Given the description of an element on the screen output the (x, y) to click on. 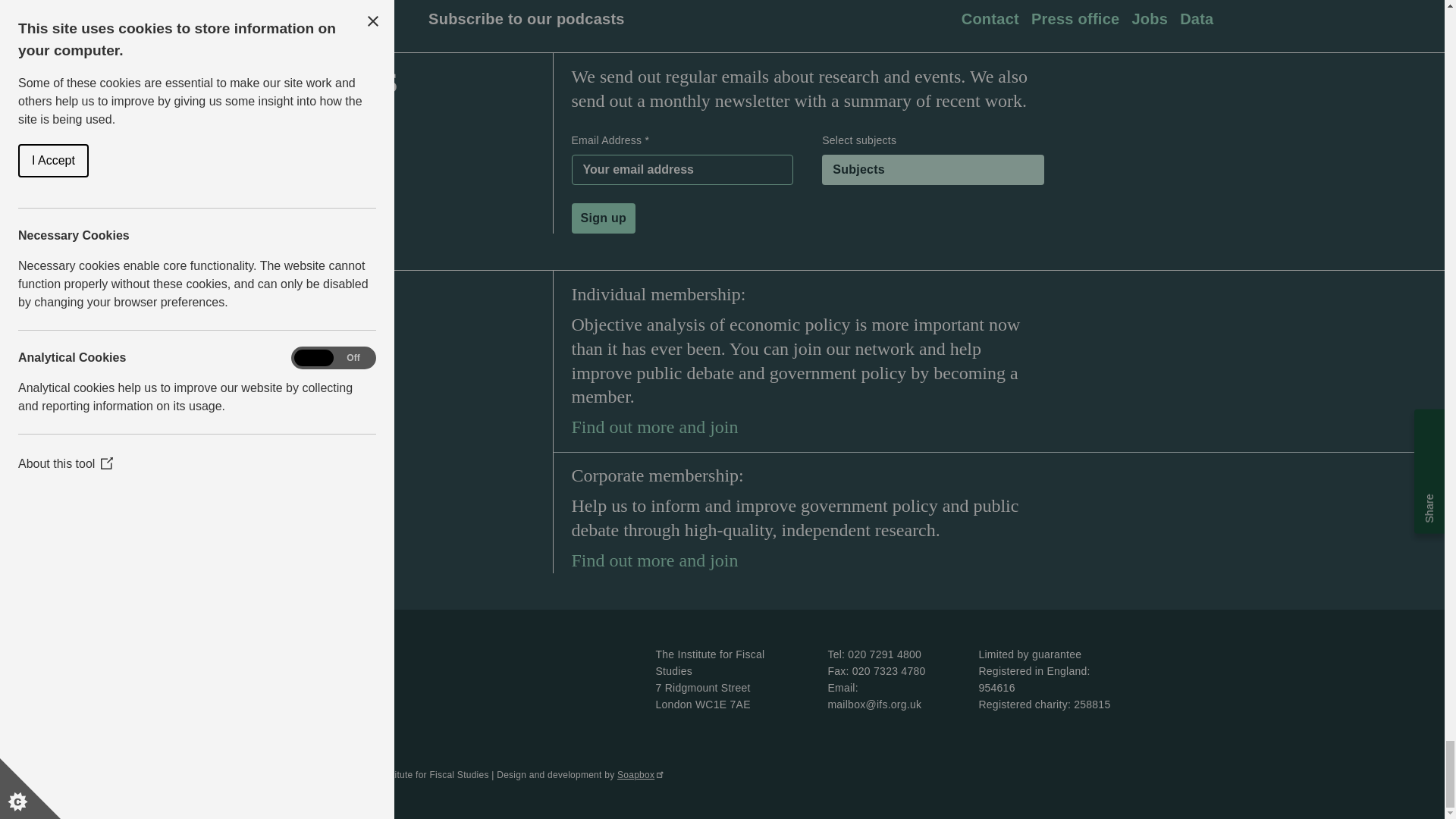
Visit the YouTube profile of IFS (391, 18)
Visit the Facebook page of IFS (329, 18)
Visit the Twitter profile of IFS (359, 18)
